Given the description of an element on the screen output the (x, y) to click on. 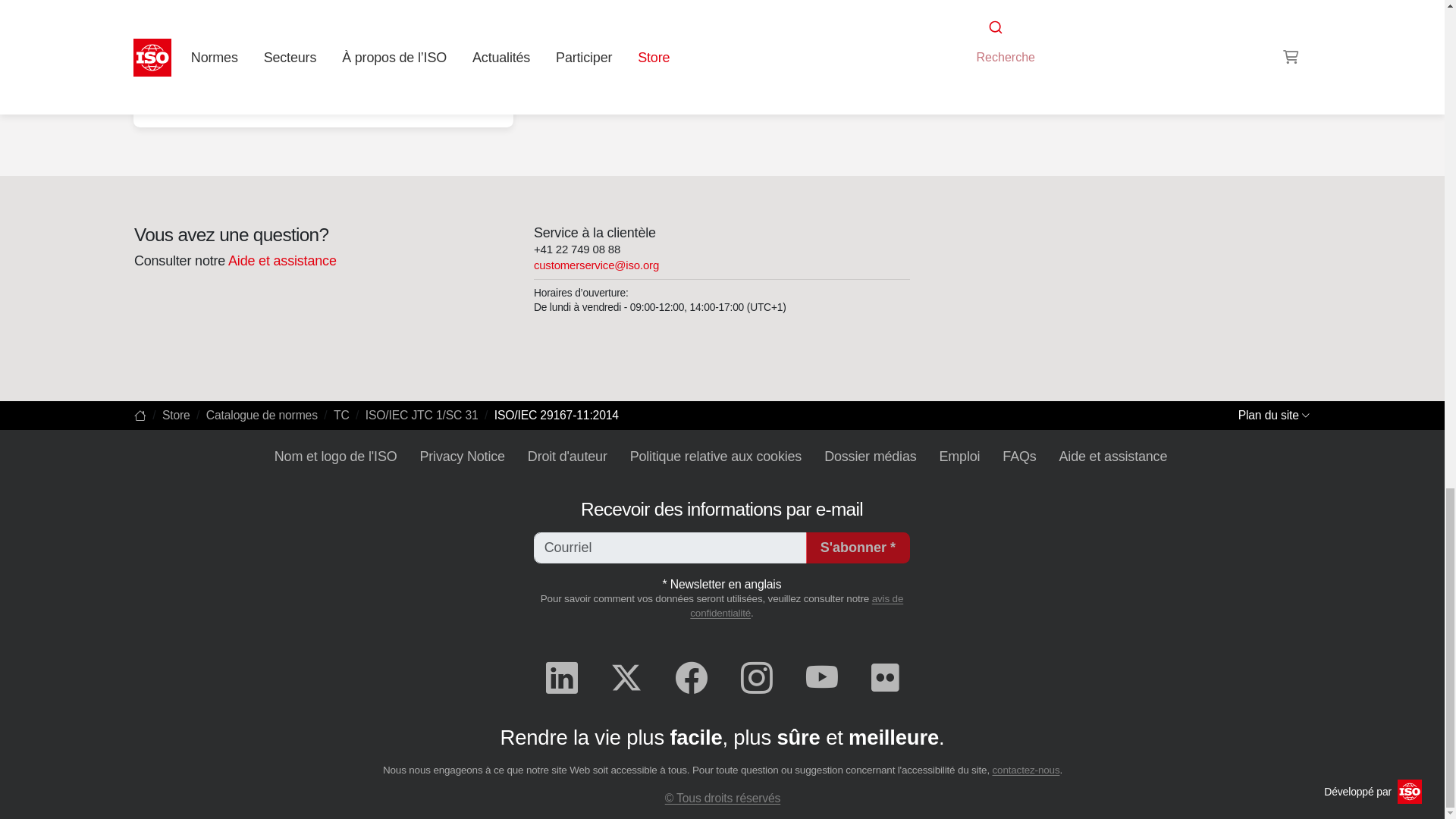
Industrie, innovation et infrastructure (323, 102)
help-support (281, 260)
